Given the description of an element on the screen output the (x, y) to click on. 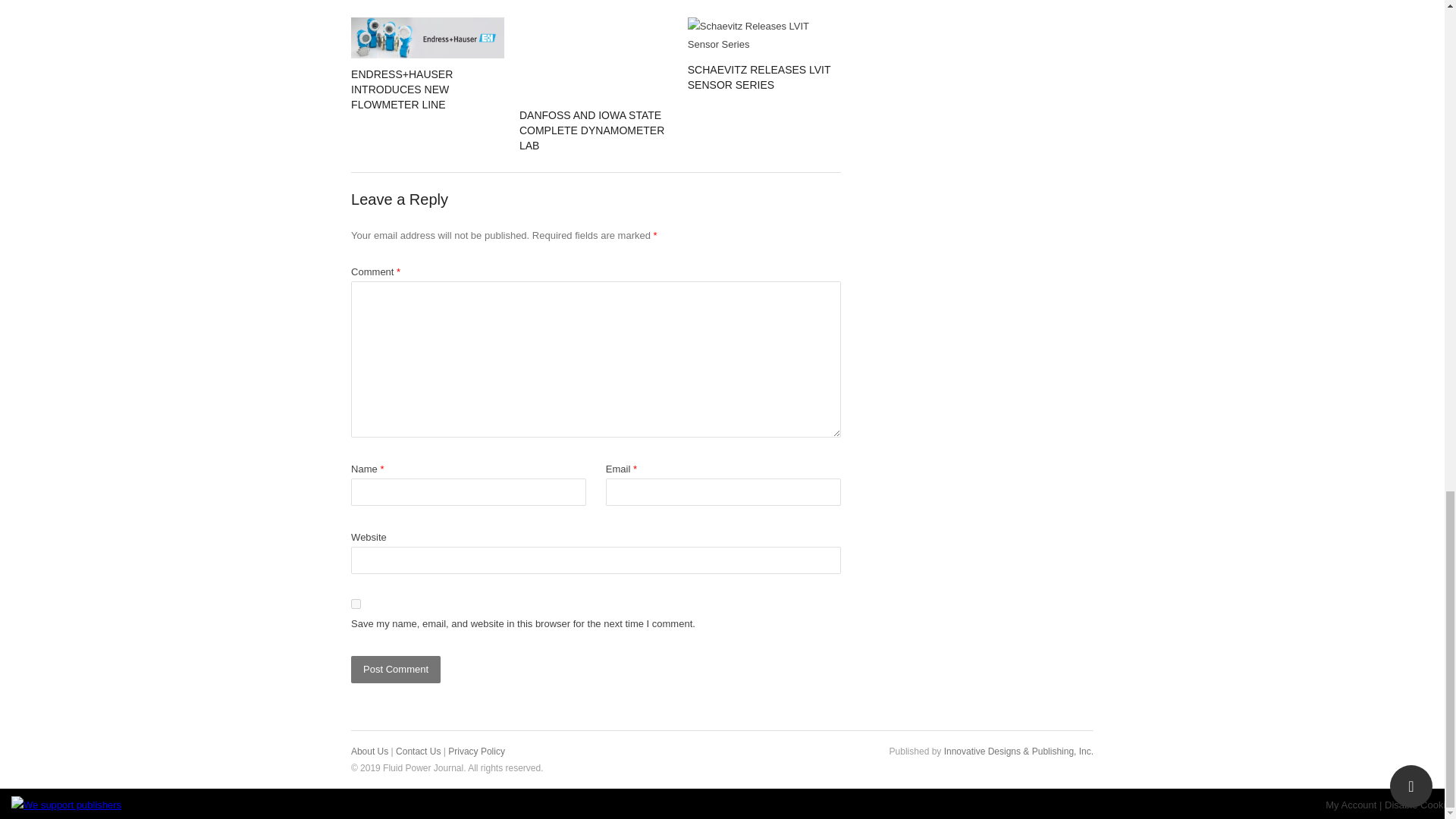
Post Comment (395, 669)
yes (355, 603)
Danfoss and Iowa State Complete Dynamometer Lab (595, 58)
